Given the description of an element on the screen output the (x, y) to click on. 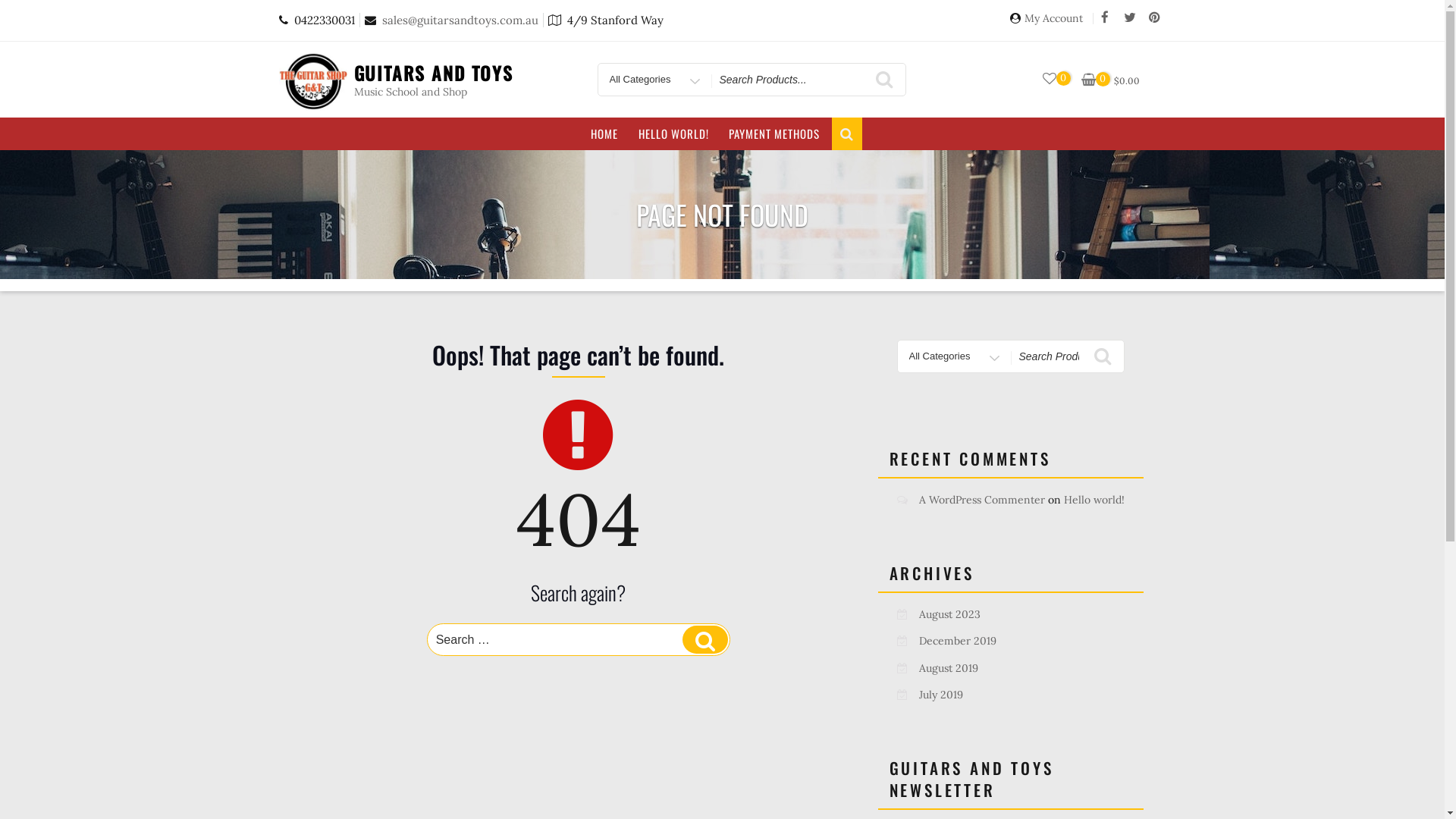
Twitter Element type: hover (1129, 17)
Hello world! Element type: text (1093, 499)
Facebook Element type: hover (1103, 17)
My Account Element type: text (1052, 22)
August 2023 Element type: text (949, 614)
0
$0.00 Element type: text (1112, 79)
HOME Element type: text (604, 133)
Pinterest Element type: hover (1153, 17)
December 2019 Element type: text (957, 640)
A WordPress Commenter Element type: text (981, 499)
sales@guitarsandtoys.com.au Element type: text (457, 19)
PAYMENT METHODS Element type: text (774, 133)
HELLO WORLD! Element type: text (673, 133)
Search Element type: text (705, 639)
July 2019 Element type: text (941, 694)
0 Element type: text (1049, 78)
August 2019 Element type: text (948, 667)
GUITARS AND TOYS Element type: text (433, 72)
